Given the description of an element on the screen output the (x, y) to click on. 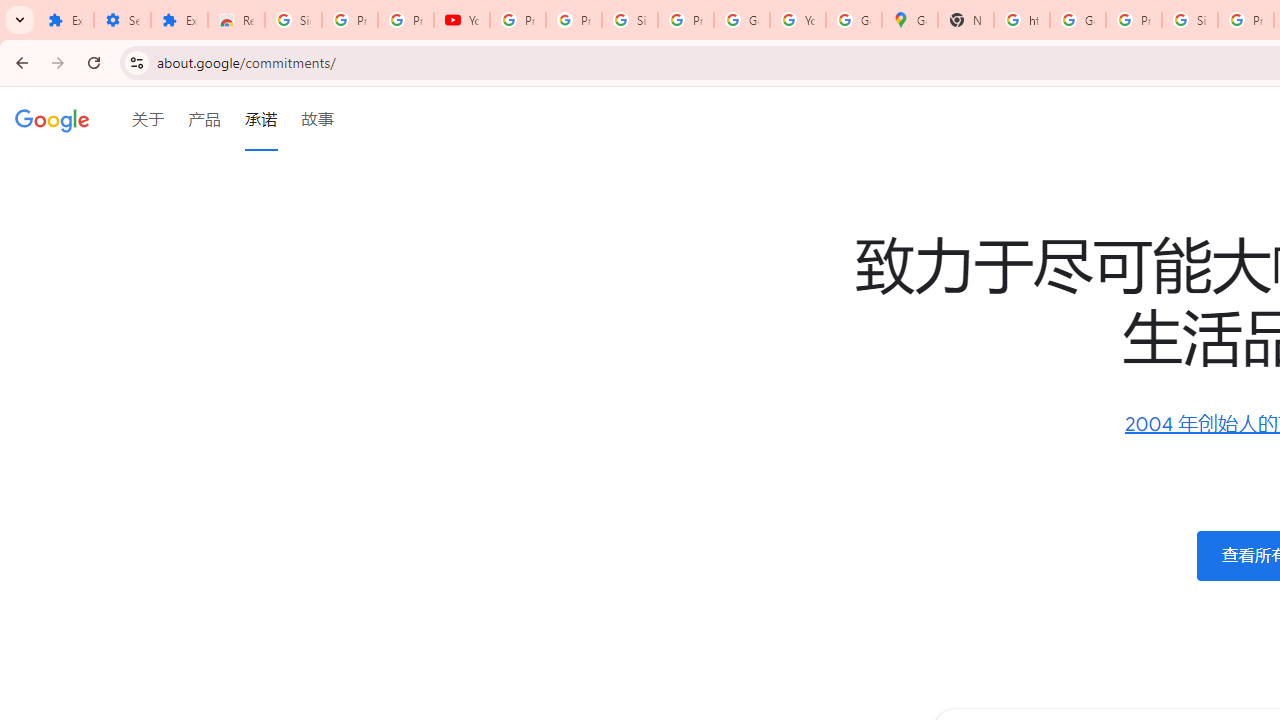
New Tab (966, 20)
https://scholar.google.com/ (1021, 20)
Extensions (65, 20)
YouTube (797, 20)
Sign in - Google Accounts (1190, 20)
